Given the description of an element on the screen output the (x, y) to click on. 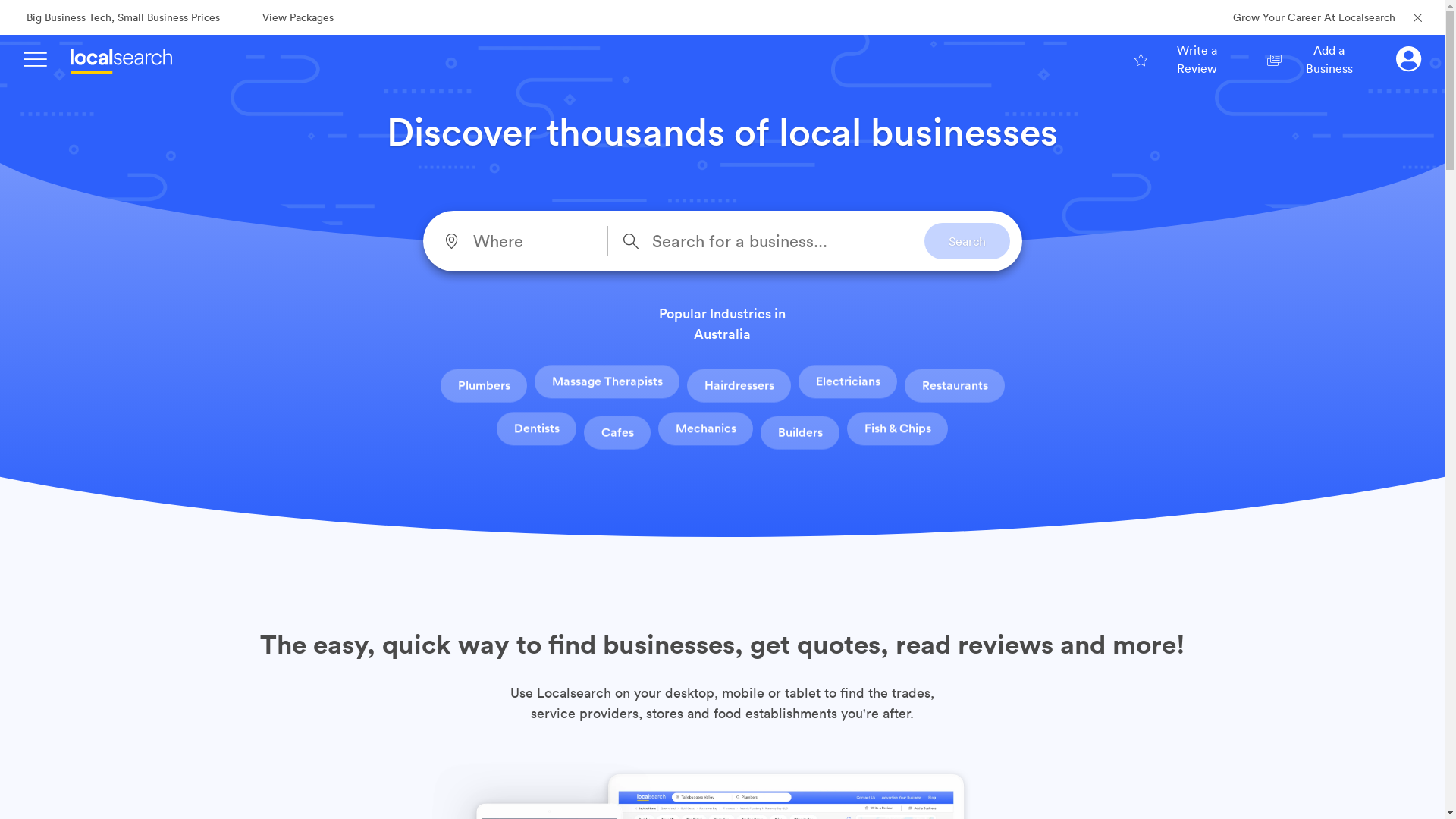
Search Element type: text (966, 240)
Fish & Chips Element type: text (897, 430)
Big Business Tech, Small Business Prices Element type: text (122, 17)
Add a Business Element type: text (1316, 58)
Write a Review Element type: text (1185, 58)
Electricians Element type: text (846, 383)
Massage Therapists Element type: text (605, 383)
Restaurants Element type: text (953, 383)
View Packages Element type: text (312, 17)
Grow Your Career At Localsearch Element type: text (1314, 17)
Builders Element type: text (799, 430)
Cafes Element type: text (616, 430)
Mechanics Element type: text (705, 430)
Plumbers Element type: text (482, 383)
Hairdressers Element type: text (738, 383)
Dentists Element type: text (536, 430)
